Given the description of an element on the screen output the (x, y) to click on. 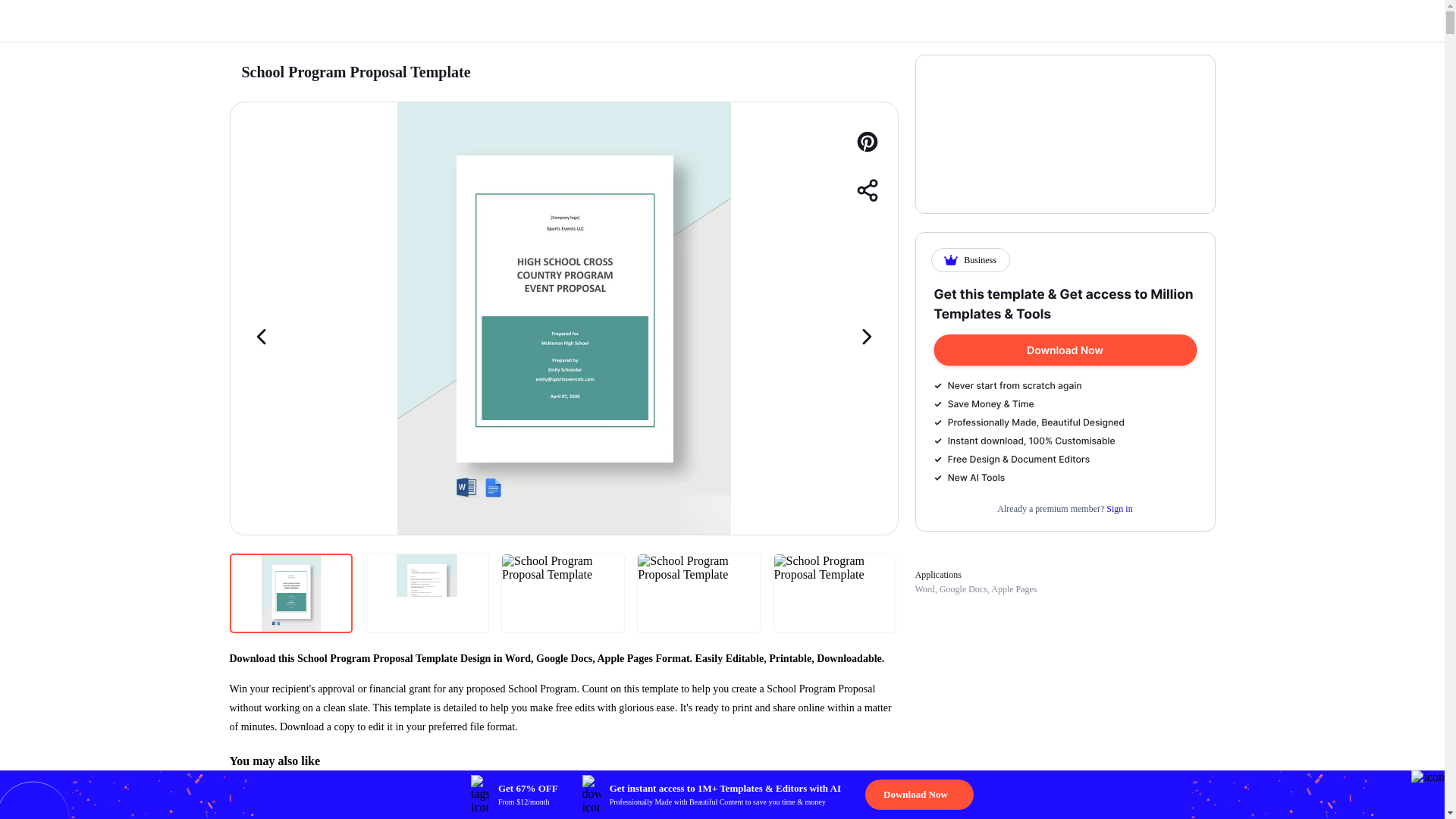
Banner Pricing Bundle (1065, 385)
Word (924, 588)
, Apple Pages (1011, 588)
, Google Docs (960, 588)
